Given the description of an element on the screen output the (x, y) to click on. 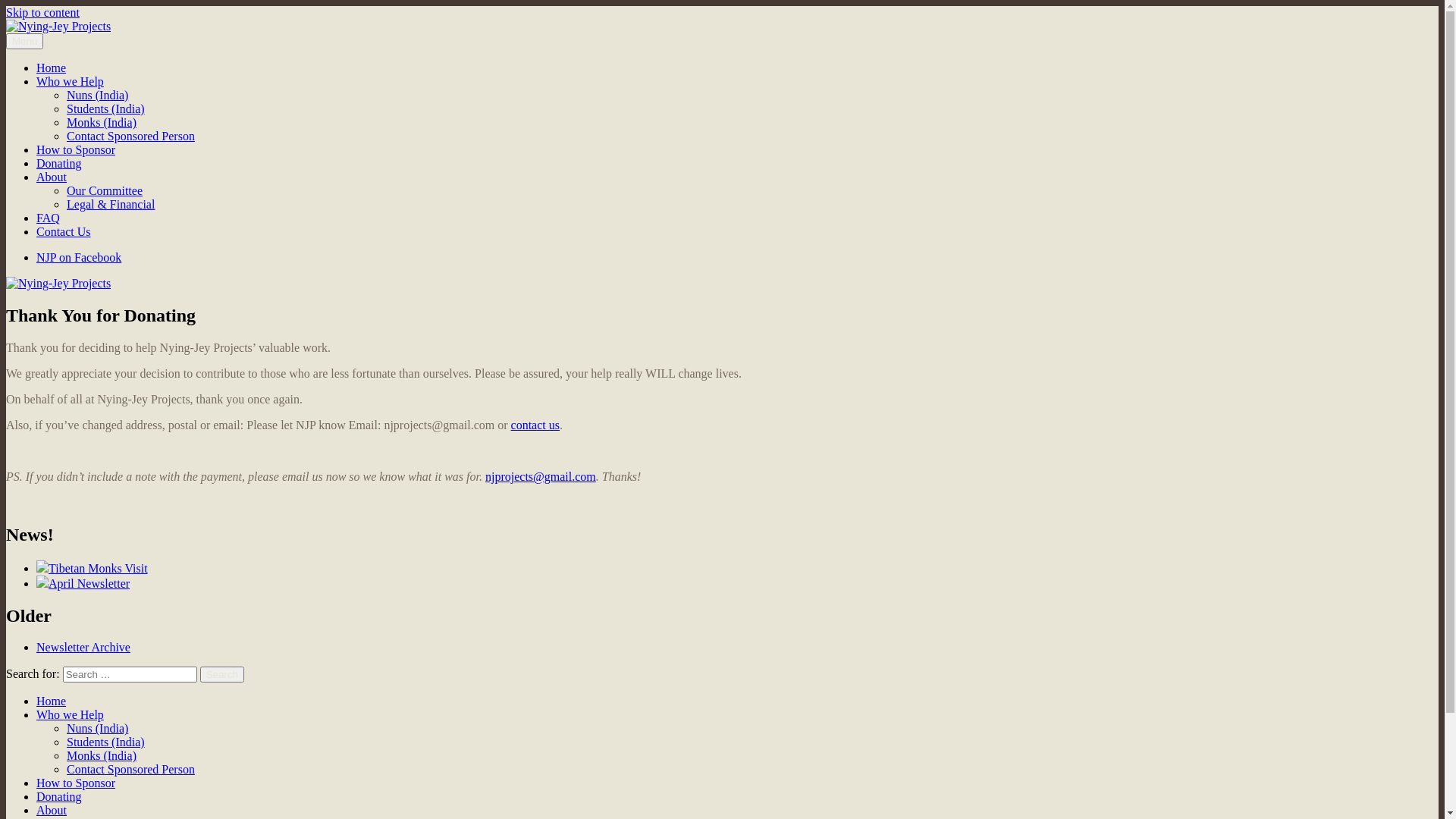
Newsletter Archive Element type: text (83, 646)
Legal & Financial Element type: text (110, 203)
Menu Element type: text (24, 41)
Monks (India) Element type: text (101, 755)
Our Committee Element type: text (104, 190)
Contact Sponsored Person Element type: text (130, 768)
NJP on Facebook Element type: text (78, 257)
Tibetan Monks Visit Element type: text (91, 567)
Contact Us Element type: text (63, 231)
Students (India) Element type: text (105, 108)
FAQ Element type: text (47, 217)
Students (India) Element type: text (105, 741)
April Newsletter Element type: text (82, 583)
About Element type: text (51, 176)
njprojects@gmail.com Element type: text (540, 476)
Nuns (India) Element type: text (97, 94)
Nuns (India) Element type: text (97, 727)
Search Element type: text (222, 674)
Monks (India) Element type: text (101, 122)
Skip to content Element type: text (42, 12)
Contact Sponsored Person Element type: text (130, 135)
contact us Element type: text (535, 424)
Home Element type: text (50, 67)
About Element type: text (51, 809)
How to Sponsor Element type: text (75, 782)
Home Element type: text (50, 700)
Who we Help Element type: text (69, 81)
How to Sponsor Element type: text (75, 149)
Who we Help Element type: text (69, 714)
Donating Element type: text (58, 796)
Donating Element type: text (58, 162)
Nying-Jey Projects Element type: text (52, 51)
